Given the description of an element on the screen output the (x, y) to click on. 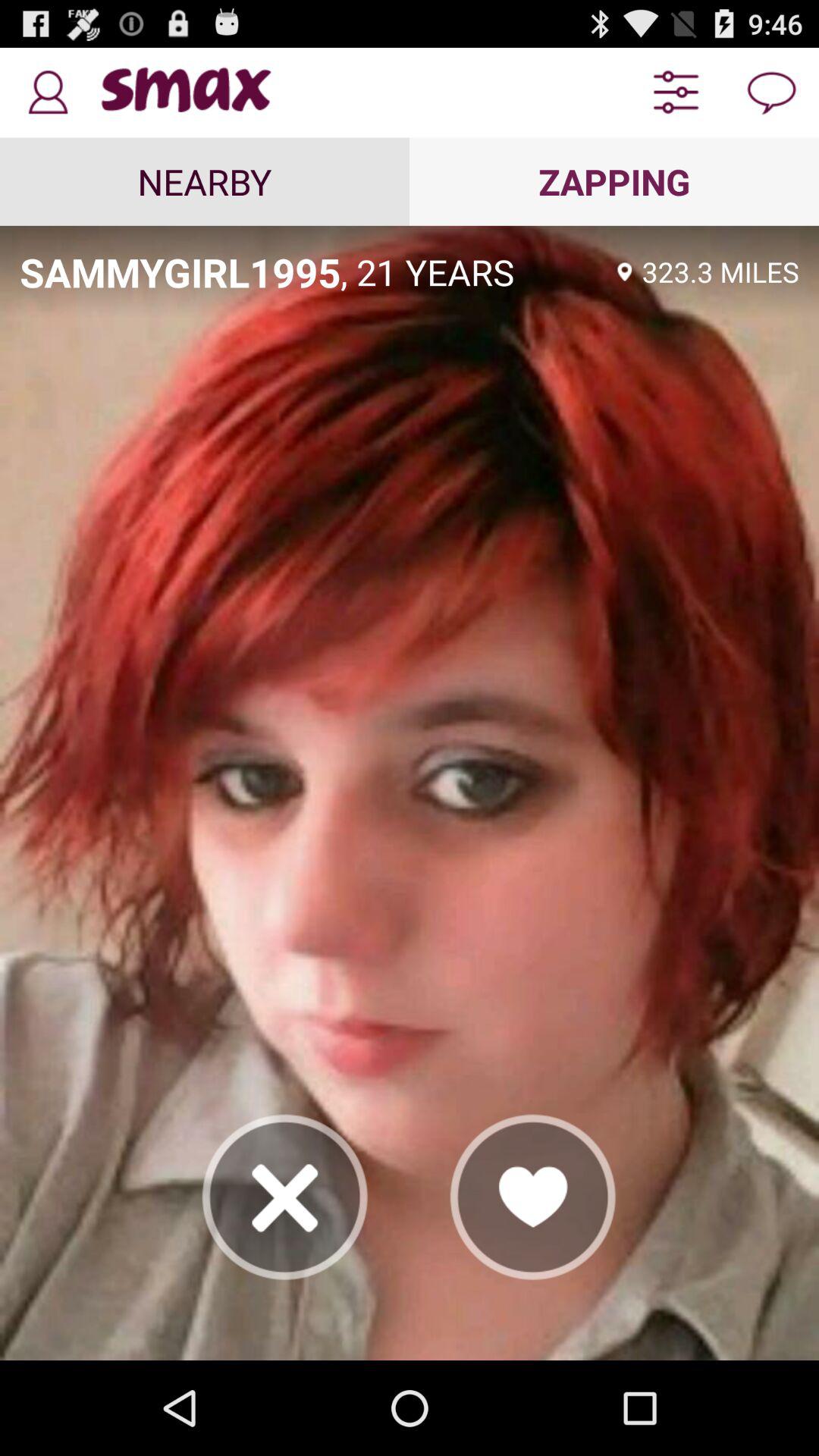
open item next to , 21 years (179, 271)
